Given the description of an element on the screen output the (x, y) to click on. 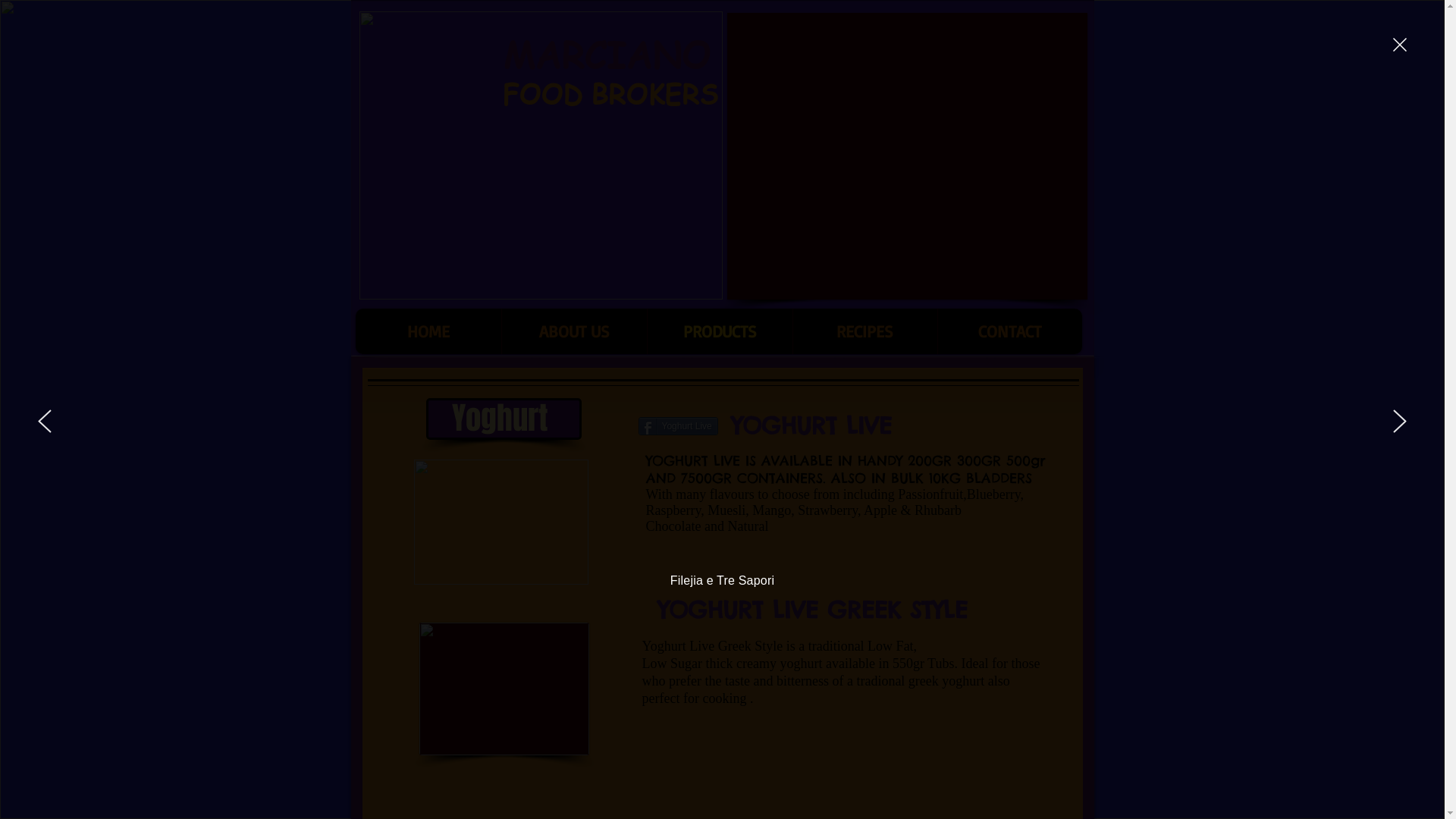
DSC01181.JPG Element type: hover (503, 688)
ABOUT US Element type: text (573, 330)
PRODUCTS Element type: text (718, 330)
CONTACT Element type: text (1009, 330)
HOME Element type: text (427, 330)
2013-05-22+14.13.00.jpg Element type: hover (501, 521)
Yoghurt Live Element type: text (678, 426)
RECIPES Element type: text (863, 330)
chef Element type: hover (540, 154)
